Given the description of an element on the screen output the (x, y) to click on. 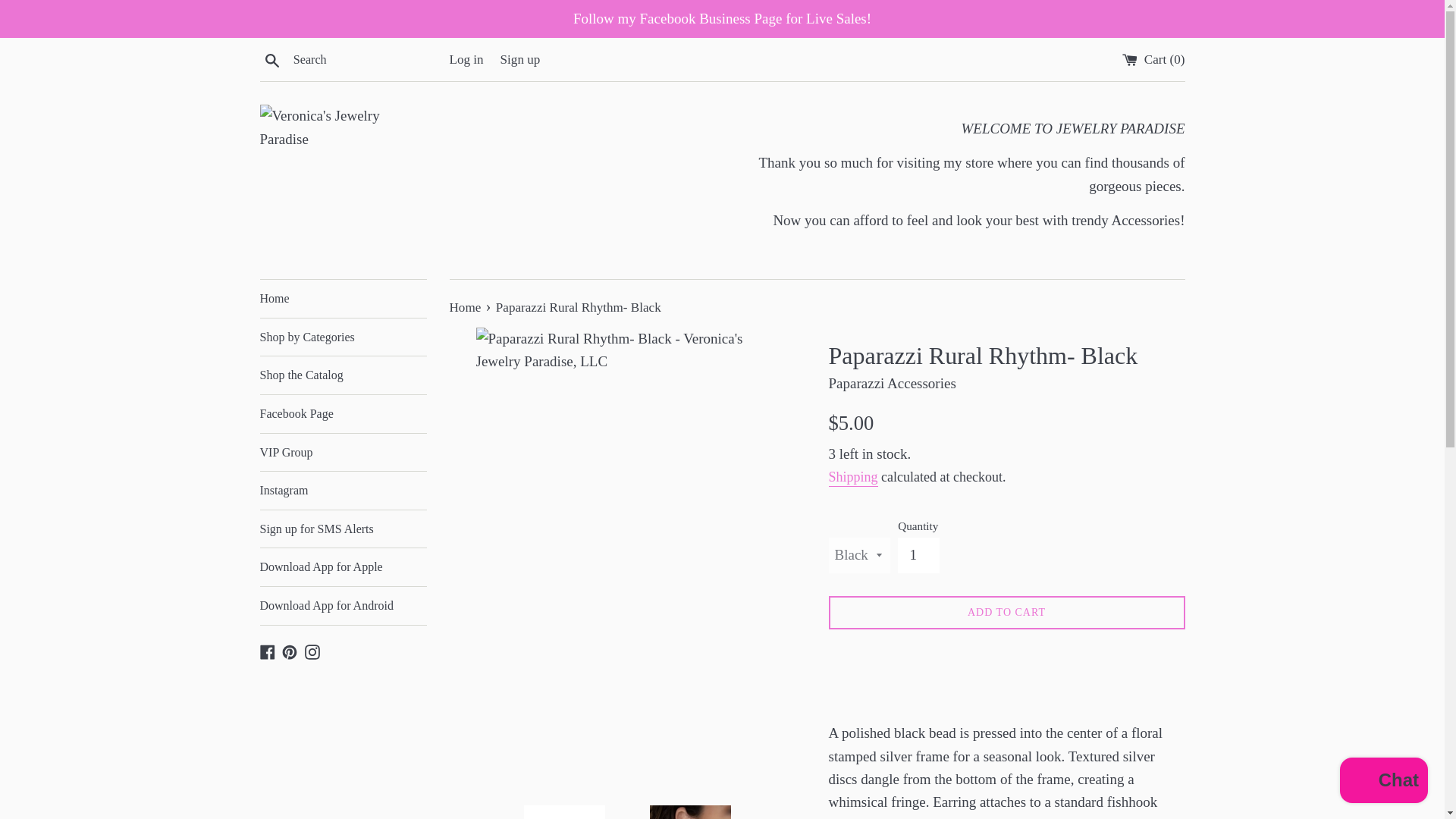
Instagram (312, 650)
Log in (465, 59)
Back to the frontpage (465, 307)
Download App for Apple (342, 566)
Sign up for SMS Alerts (342, 528)
Shipping (852, 477)
Facebook Page (342, 413)
ADD TO CART (1006, 612)
Home (465, 307)
Shop by Categories (342, 337)
